Given the description of an element on the screen output the (x, y) to click on. 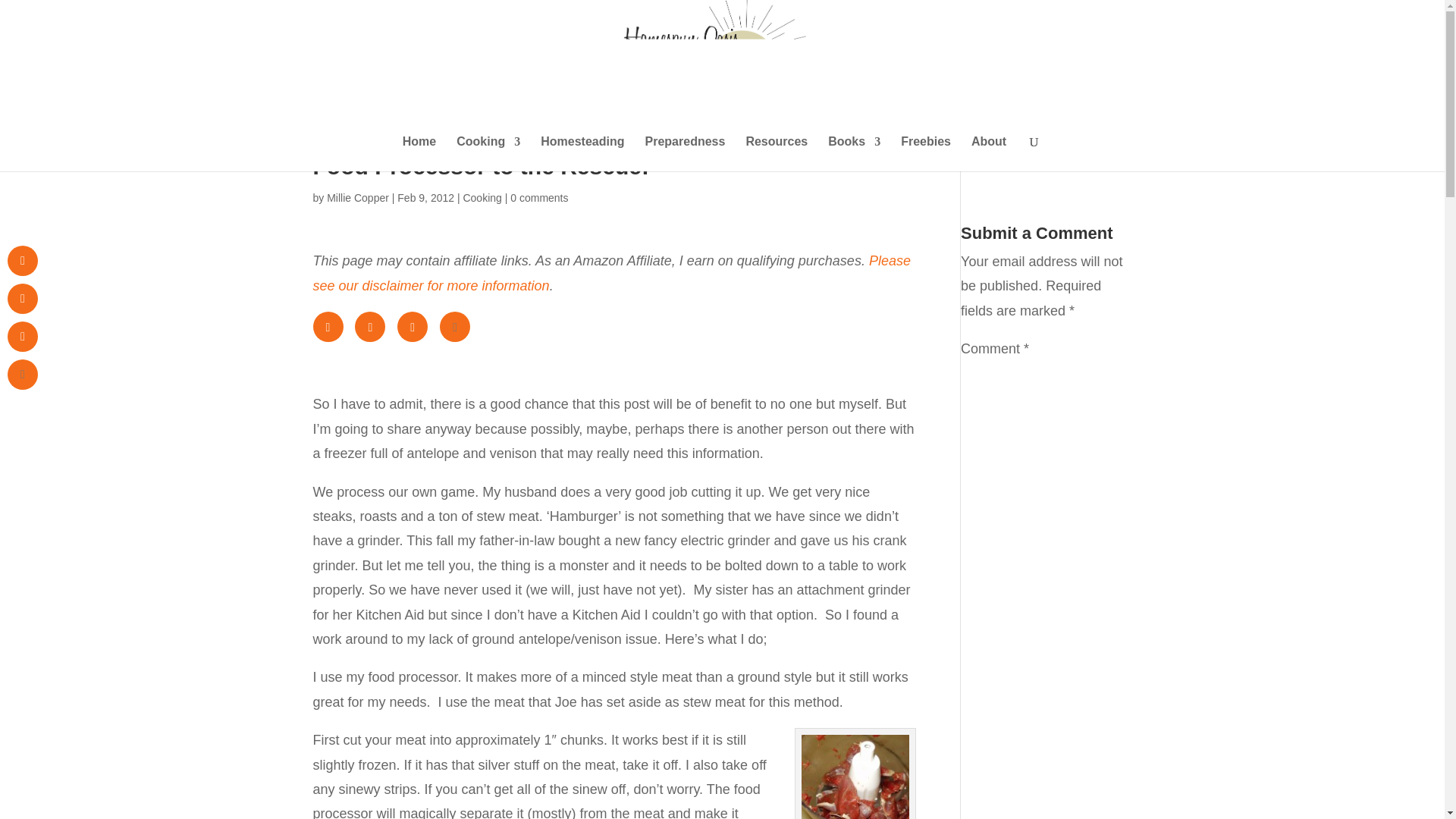
Freebies (925, 153)
Books (854, 153)
Please see our disclaimer for more information (611, 272)
Preparedness (685, 153)
Homesteading (582, 153)
0 comments (539, 197)
Millie Copper (357, 197)
Cooking (481, 197)
OLYMPUS DIGITAL CAMERA (855, 776)
Posts by Millie Copper (357, 197)
Resources (776, 153)
Cooking (488, 153)
Home (419, 153)
About (988, 153)
